Given the description of an element on the screen output the (x, y) to click on. 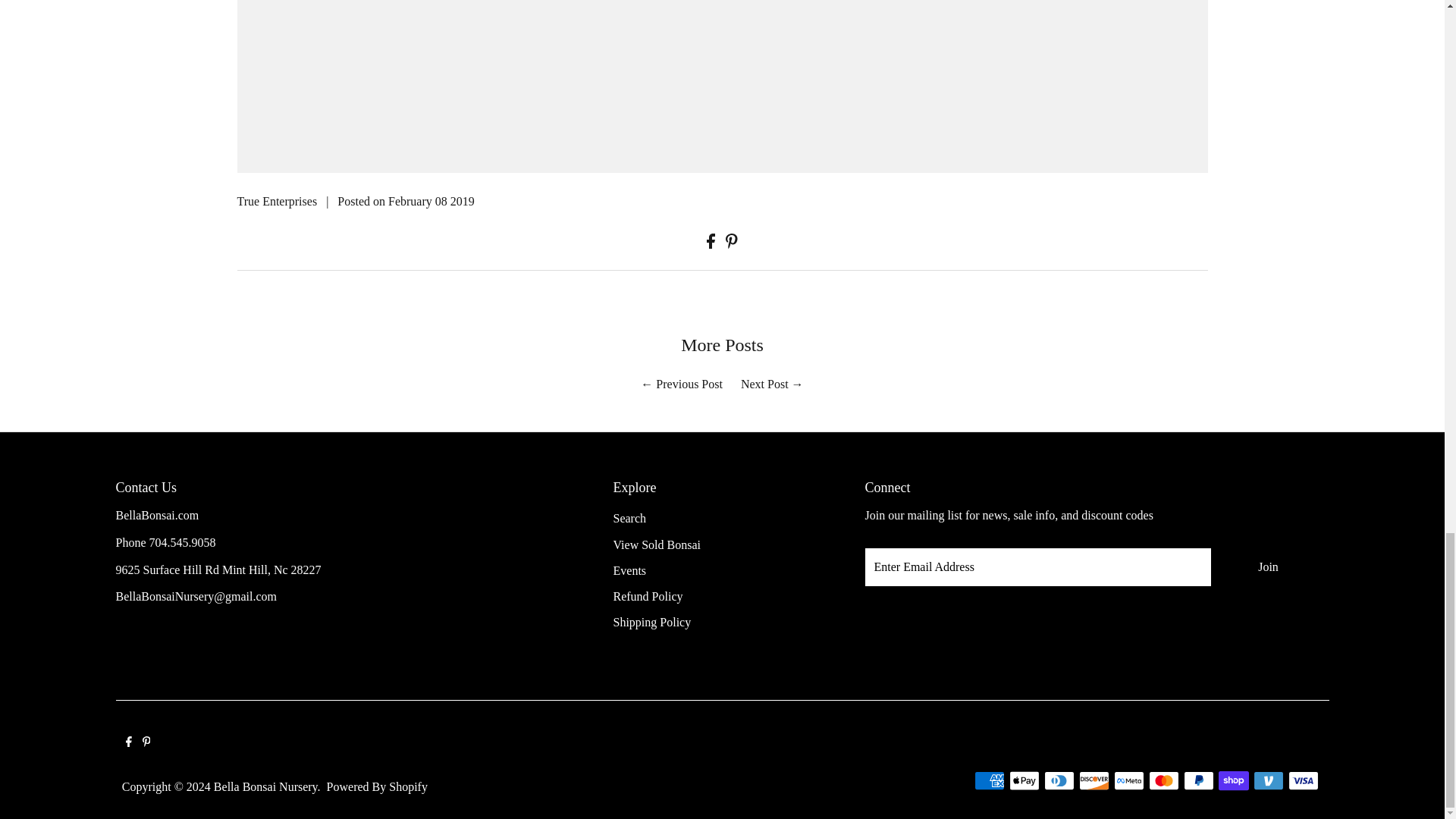
Apple Pay (1024, 780)
Visa (1303, 780)
American Express (989, 780)
Meta Pay (1128, 780)
Join (1266, 566)
Next Post (765, 383)
Shop Pay (1233, 780)
Previous Post (689, 383)
Discover (1093, 780)
Venmo (1268, 780)
